Given the description of an element on the screen output the (x, y) to click on. 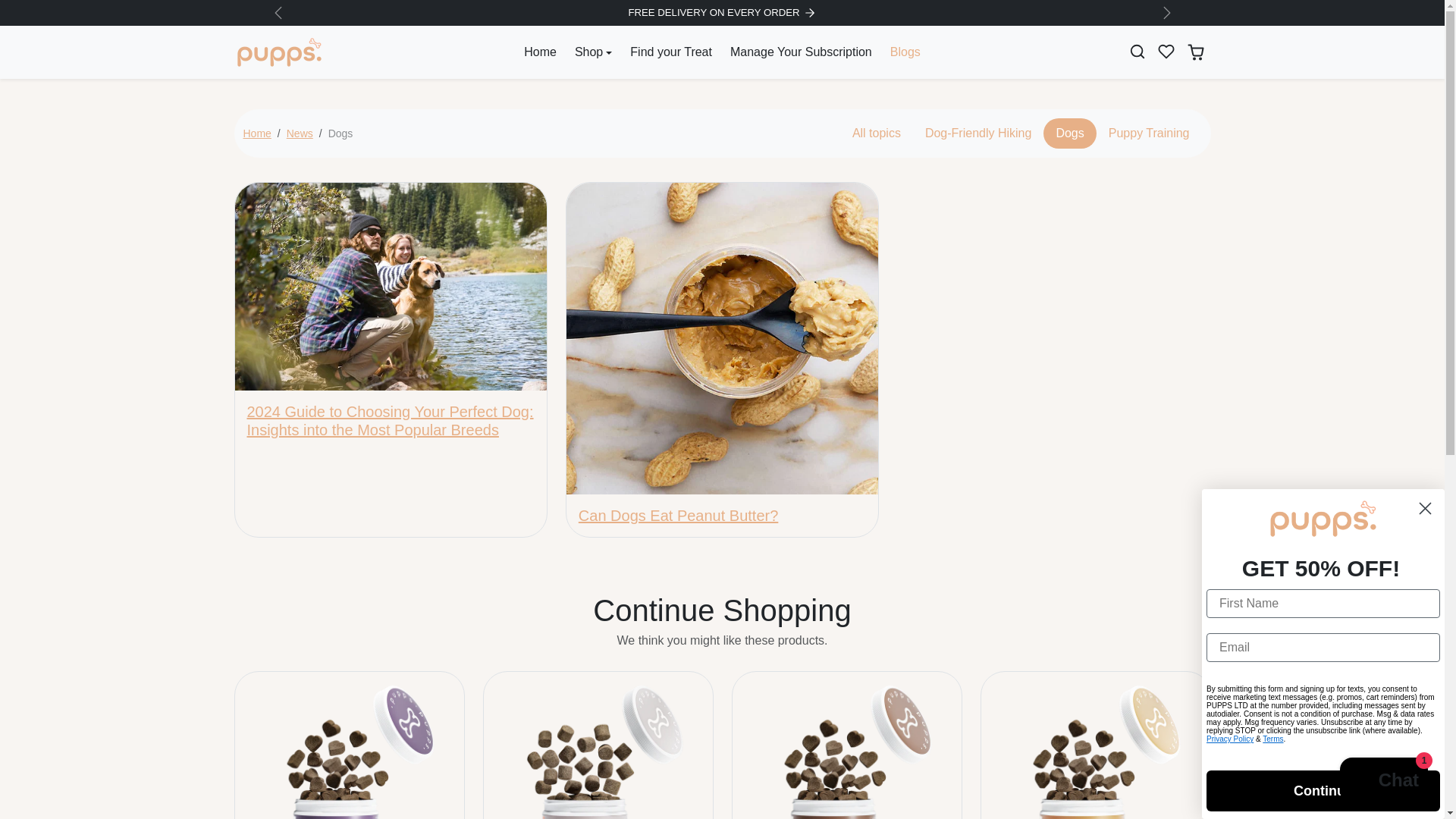
Shop (593, 52)
Shopify online store chat (1383, 781)
Blogs (905, 52)
Home (540, 52)
Find your Treat (670, 52)
Previous (277, 6)
Manage Your Subscription (800, 52)
Next (1166, 7)
